Given the description of an element on the screen output the (x, y) to click on. 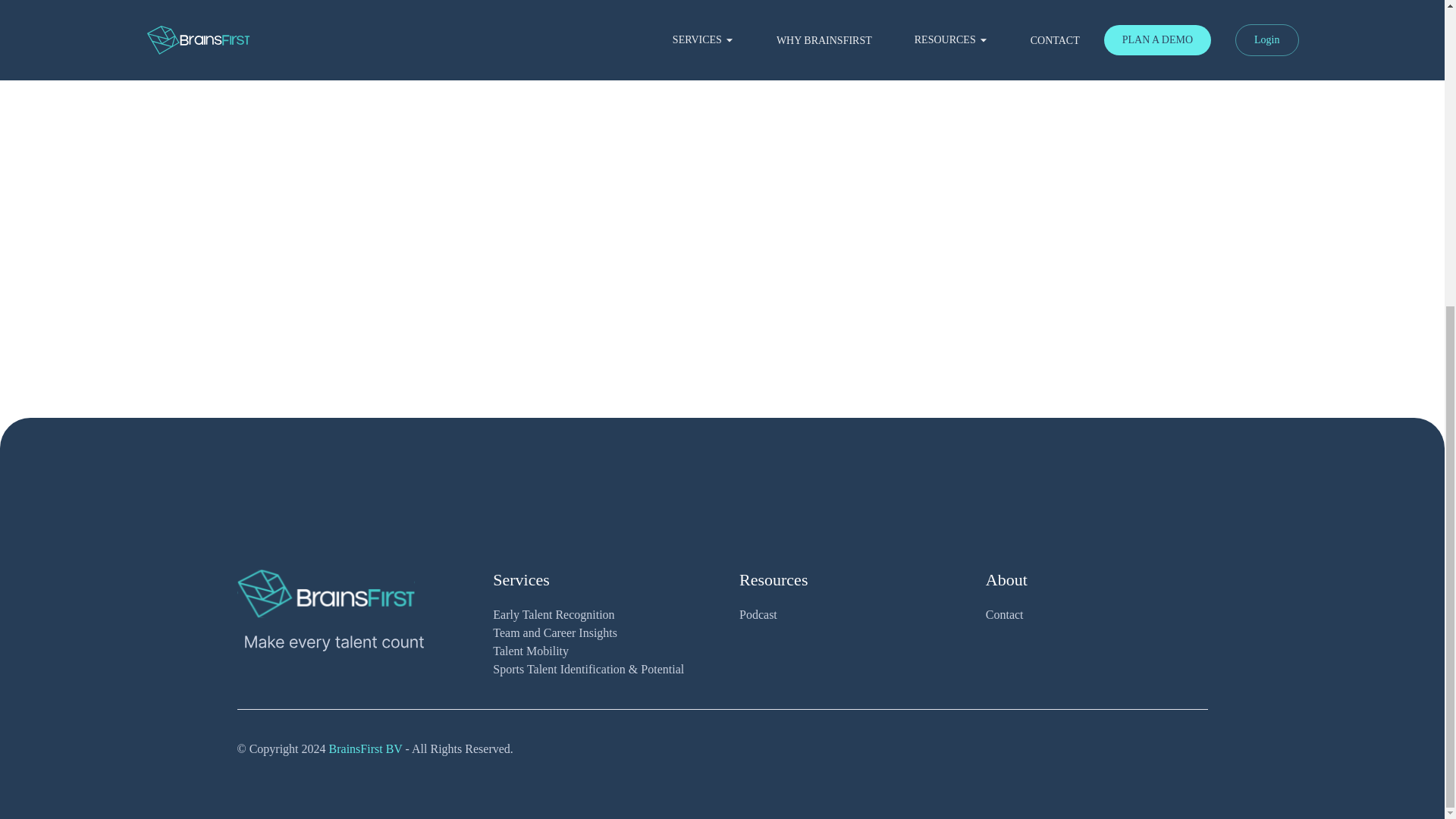
Contact (1096, 615)
Early Talent Recognition (603, 615)
Podcast (849, 615)
Team and Career Insights (603, 633)
Talent Mobility (603, 651)
